Given the description of an element on the screen output the (x, y) to click on. 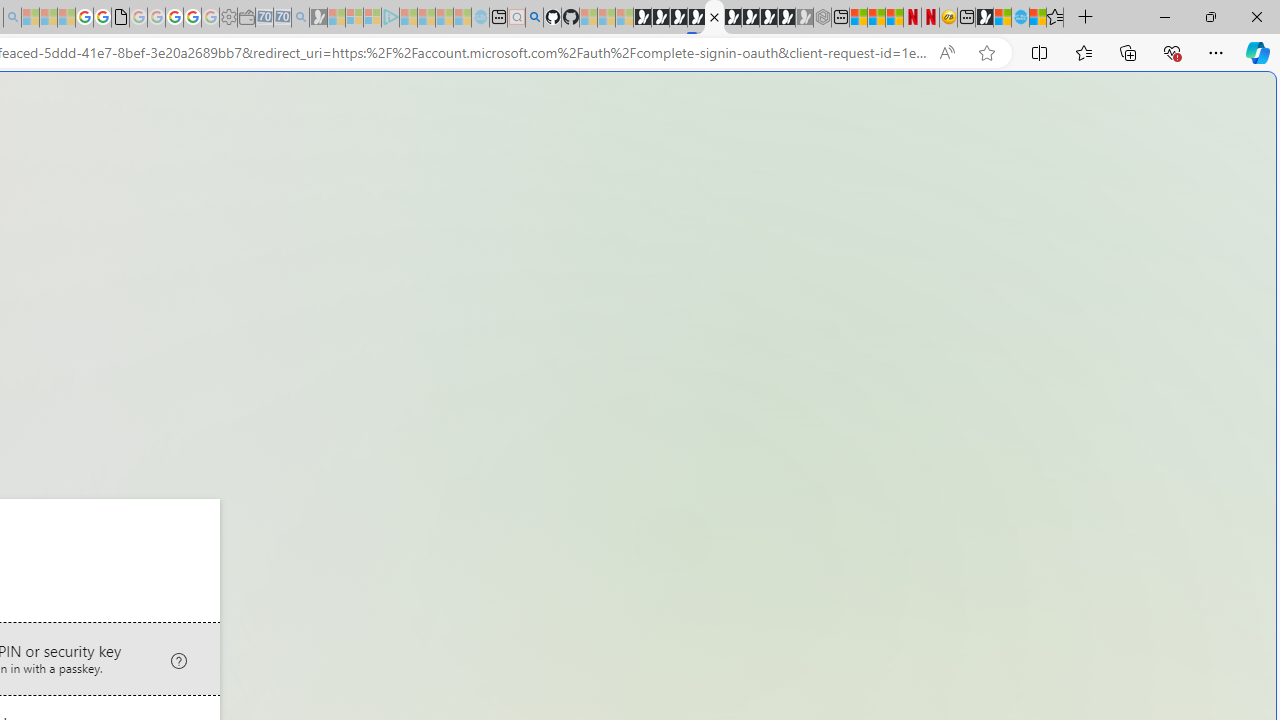
github - Search (534, 17)
